Given the description of an element on the screen output the (x, y) to click on. 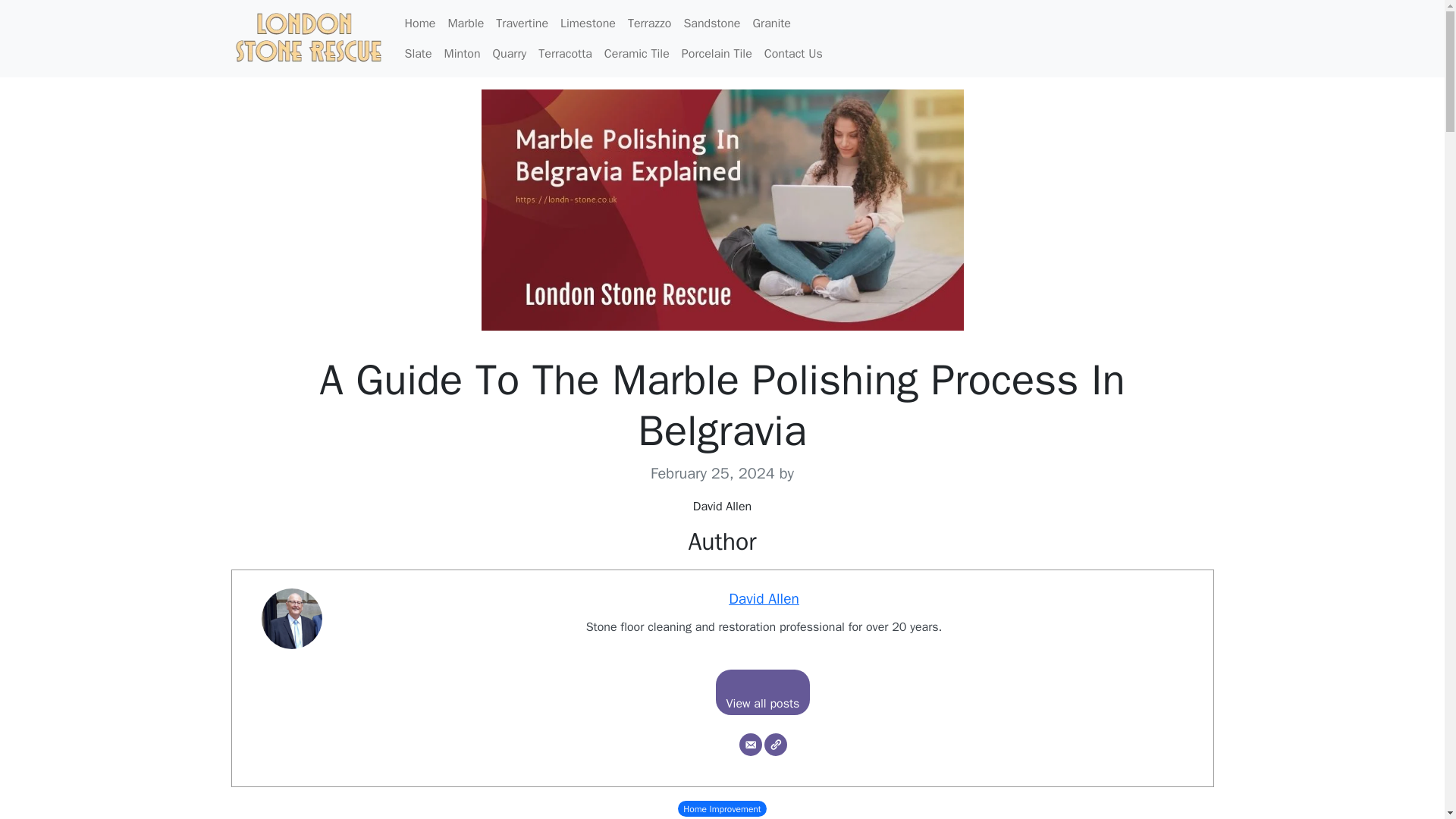
Terrazzo (649, 23)
Quarry (509, 53)
Limestone (587, 23)
Minton (462, 53)
Contact Us (793, 53)
Slate (418, 53)
Ceramic Tile (636, 53)
David Allen (764, 598)
Granite (770, 23)
Sandstone (711, 23)
Porcelain Tile (716, 53)
Marble (465, 23)
View all posts (763, 691)
David Allen (764, 598)
View all posts (763, 691)
